Given the description of an element on the screen output the (x, y) to click on. 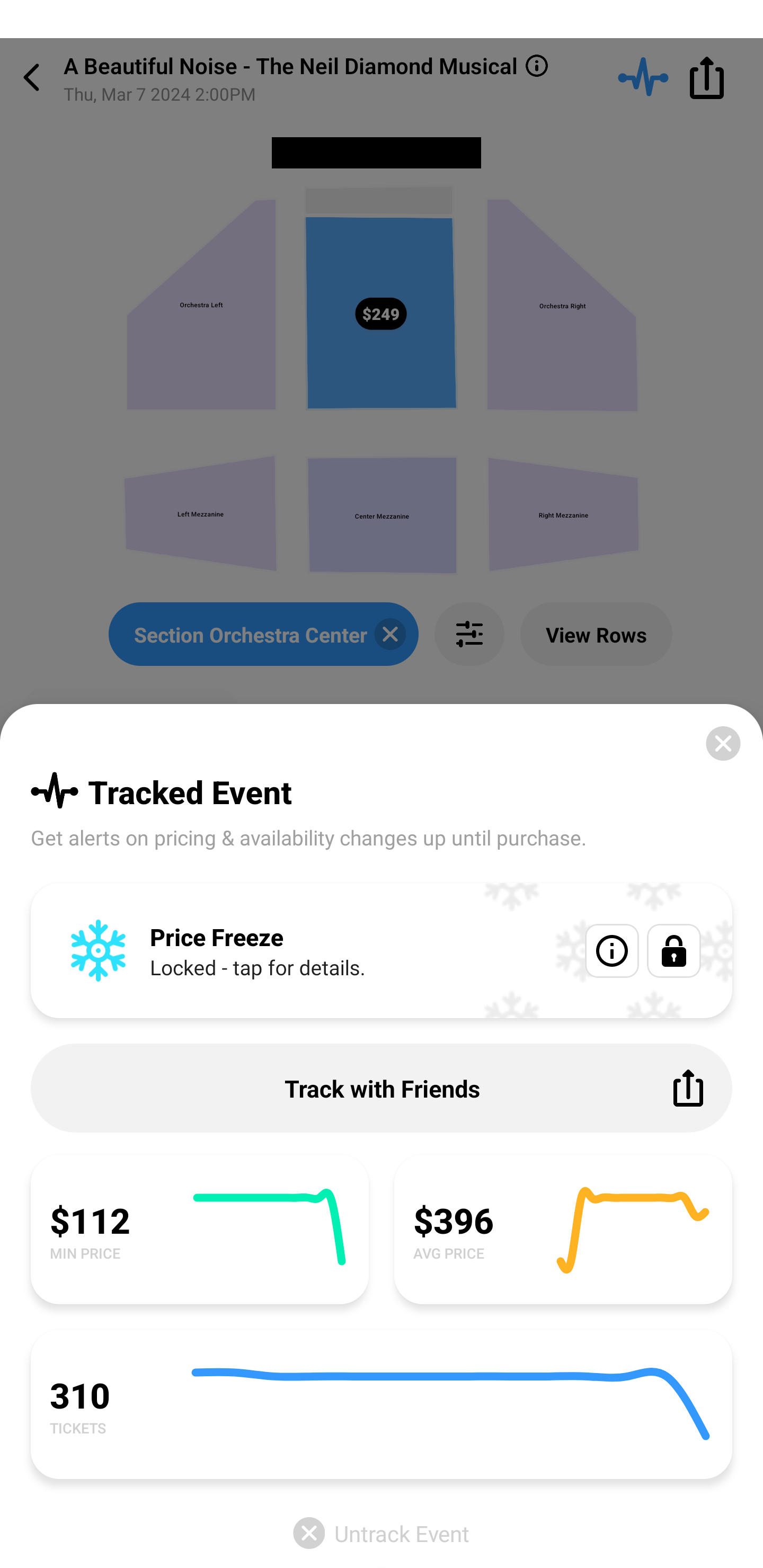
Track with Friends (381, 1088)
Untrack Event (381, 1533)
